Given the description of an element on the screen output the (x, y) to click on. 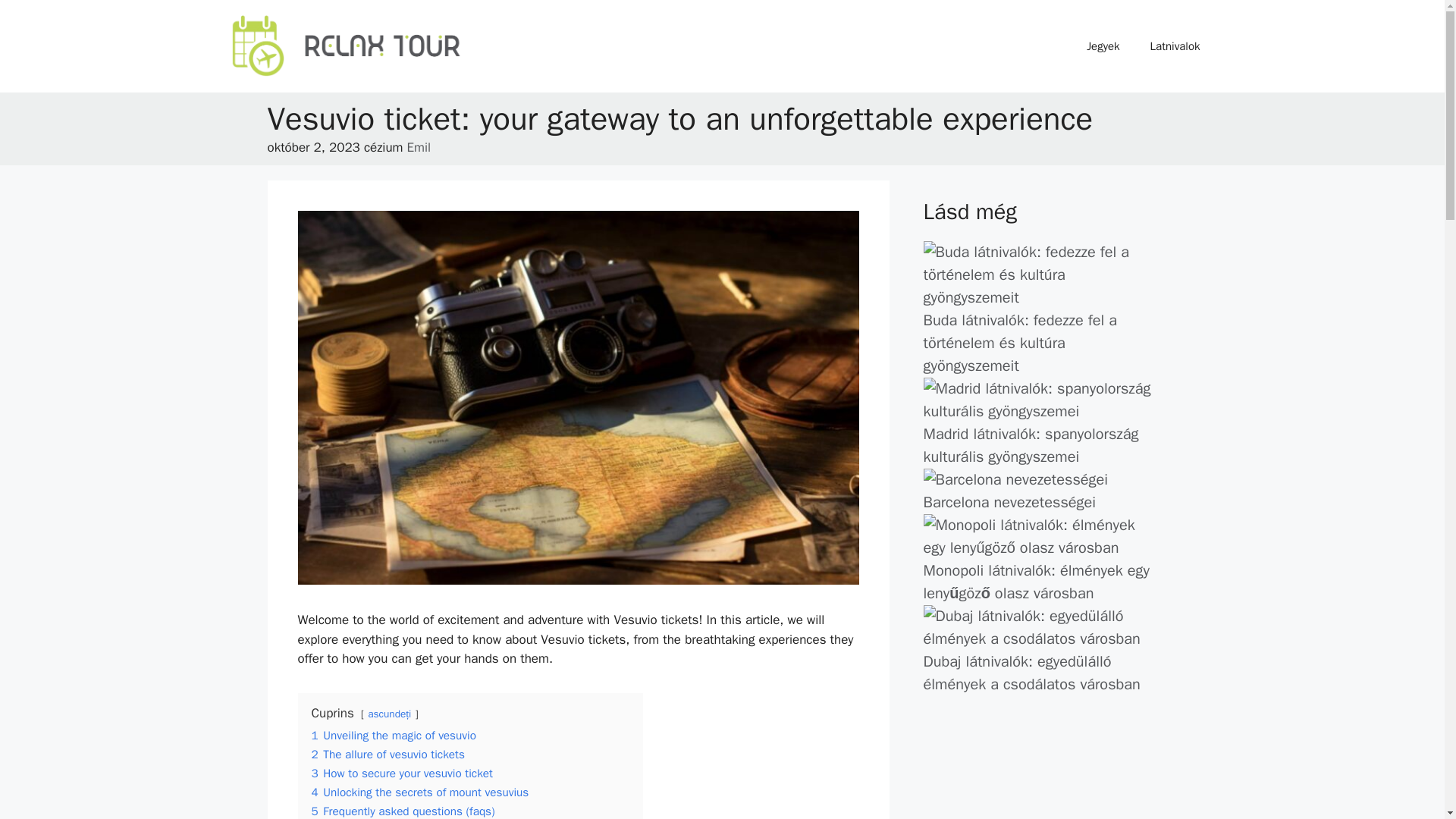
3 How to secure your vesuvio ticket (401, 773)
Latnivalok (1175, 45)
1 Unveiling the magic of vesuvio (393, 735)
Emil (418, 147)
2 The allure of vesuvio tickets (387, 754)
Jegyek (1102, 45)
4 Unlocking the secrets of mount vesuvius (419, 792)
